Given the description of an element on the screen output the (x, y) to click on. 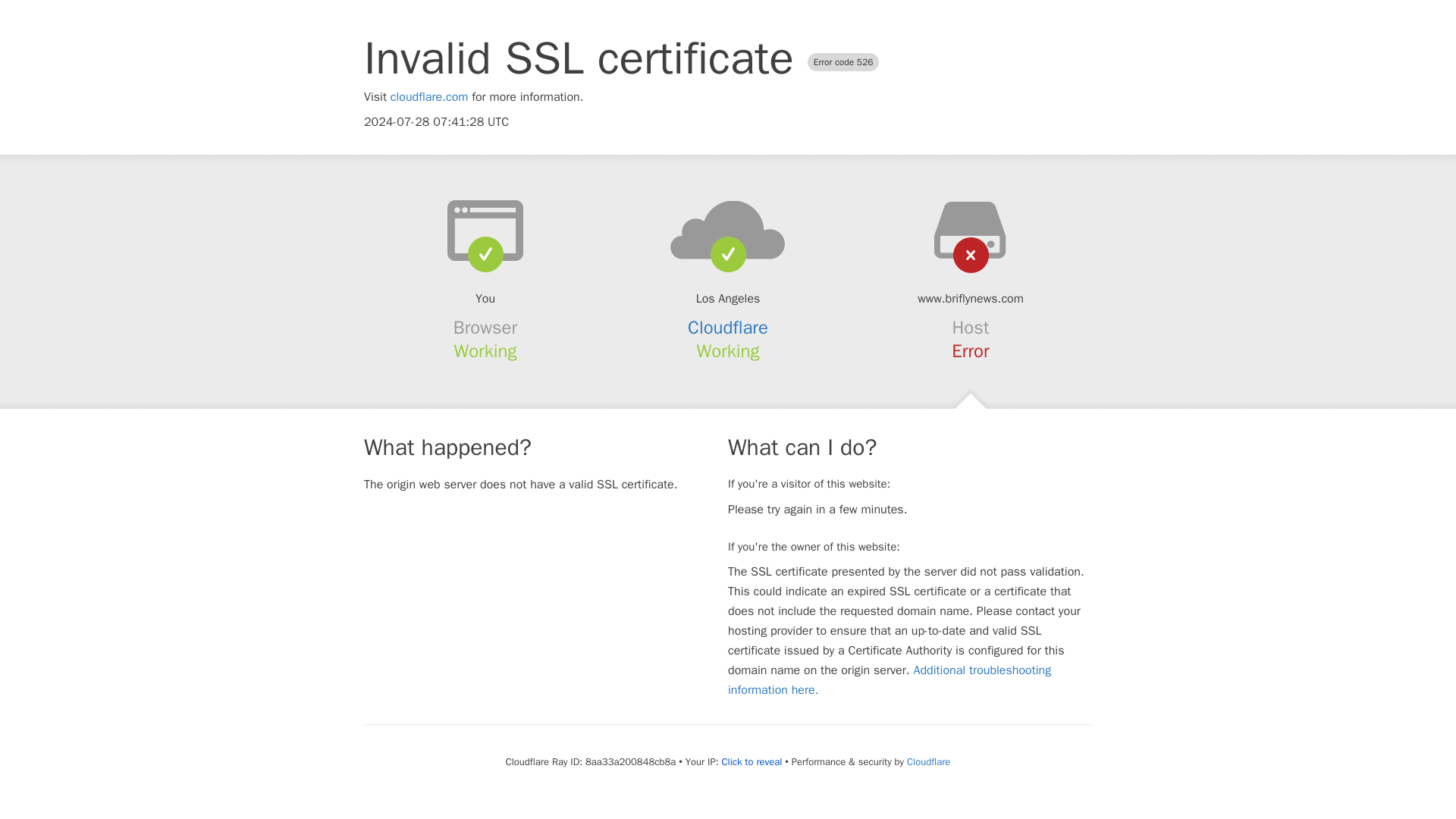
Additional troubleshooting information here. (889, 679)
Cloudflare (727, 327)
cloudflare.com (429, 96)
Cloudflare (928, 761)
Click to reveal (750, 762)
